Given the description of an element on the screen output the (x, y) to click on. 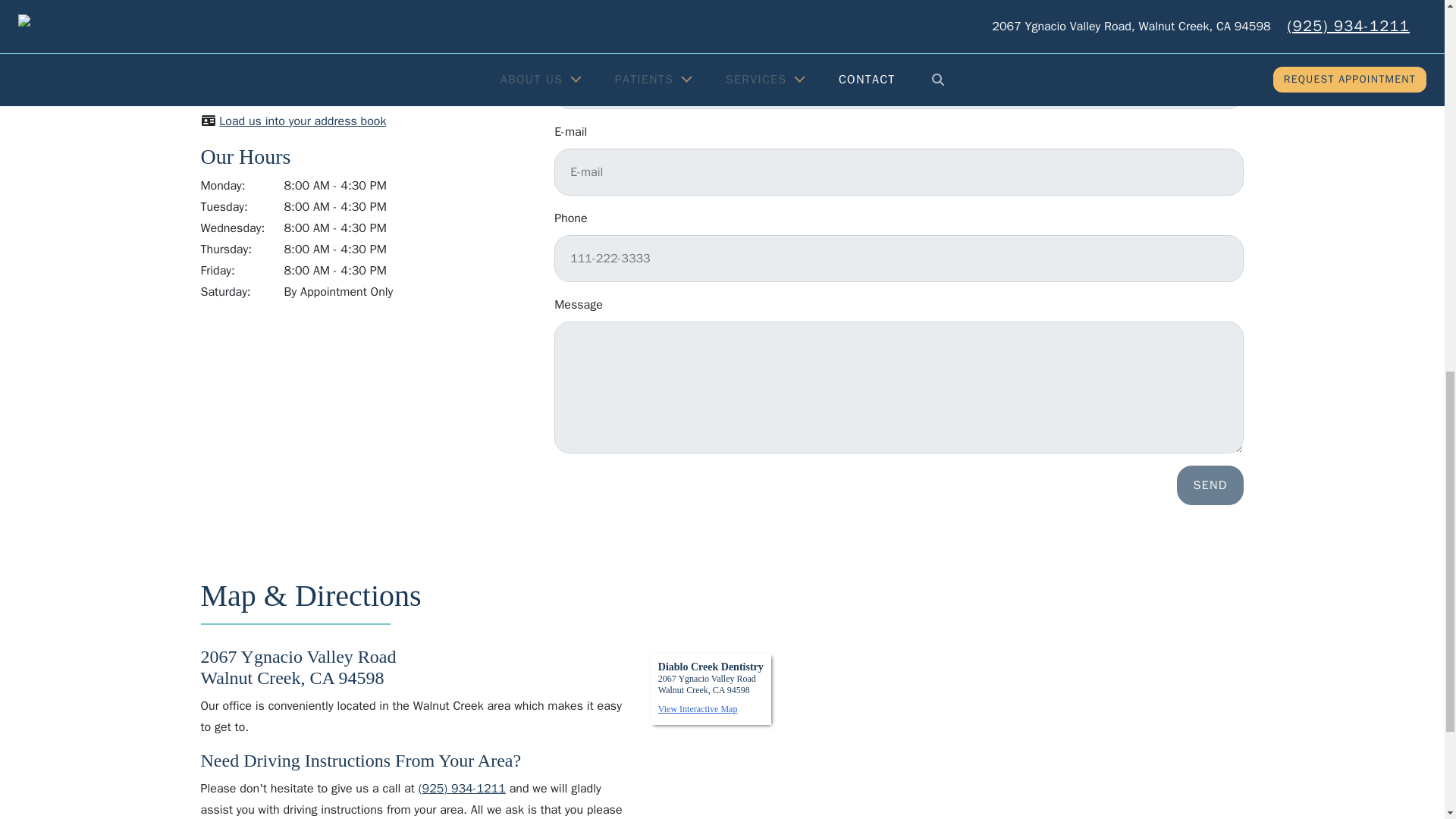
Contact Us Submit (1210, 485)
